Given the description of an element on the screen output the (x, y) to click on. 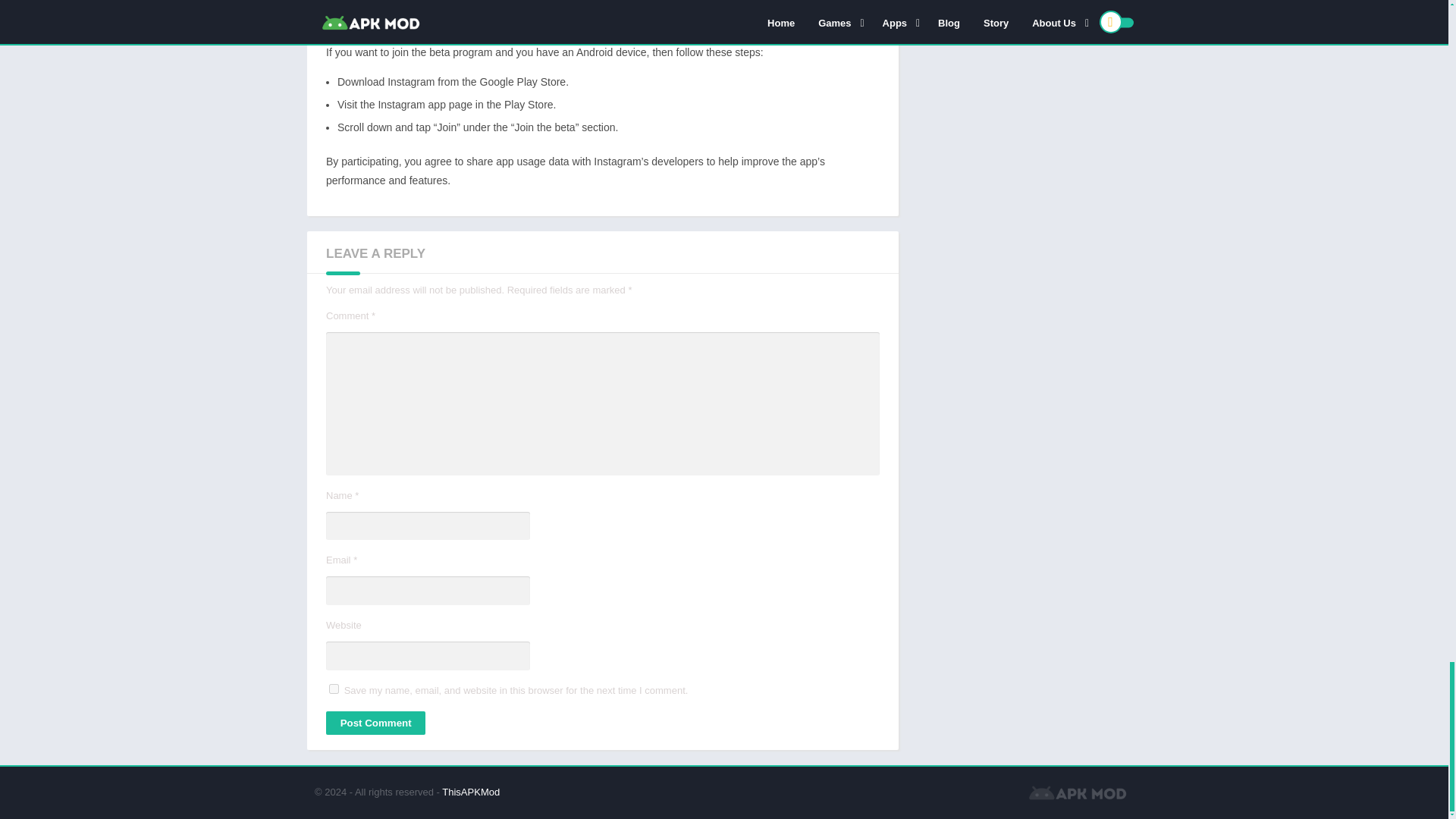
yes (334, 688)
Post Comment (375, 722)
